Given the description of an element on the screen output the (x, y) to click on. 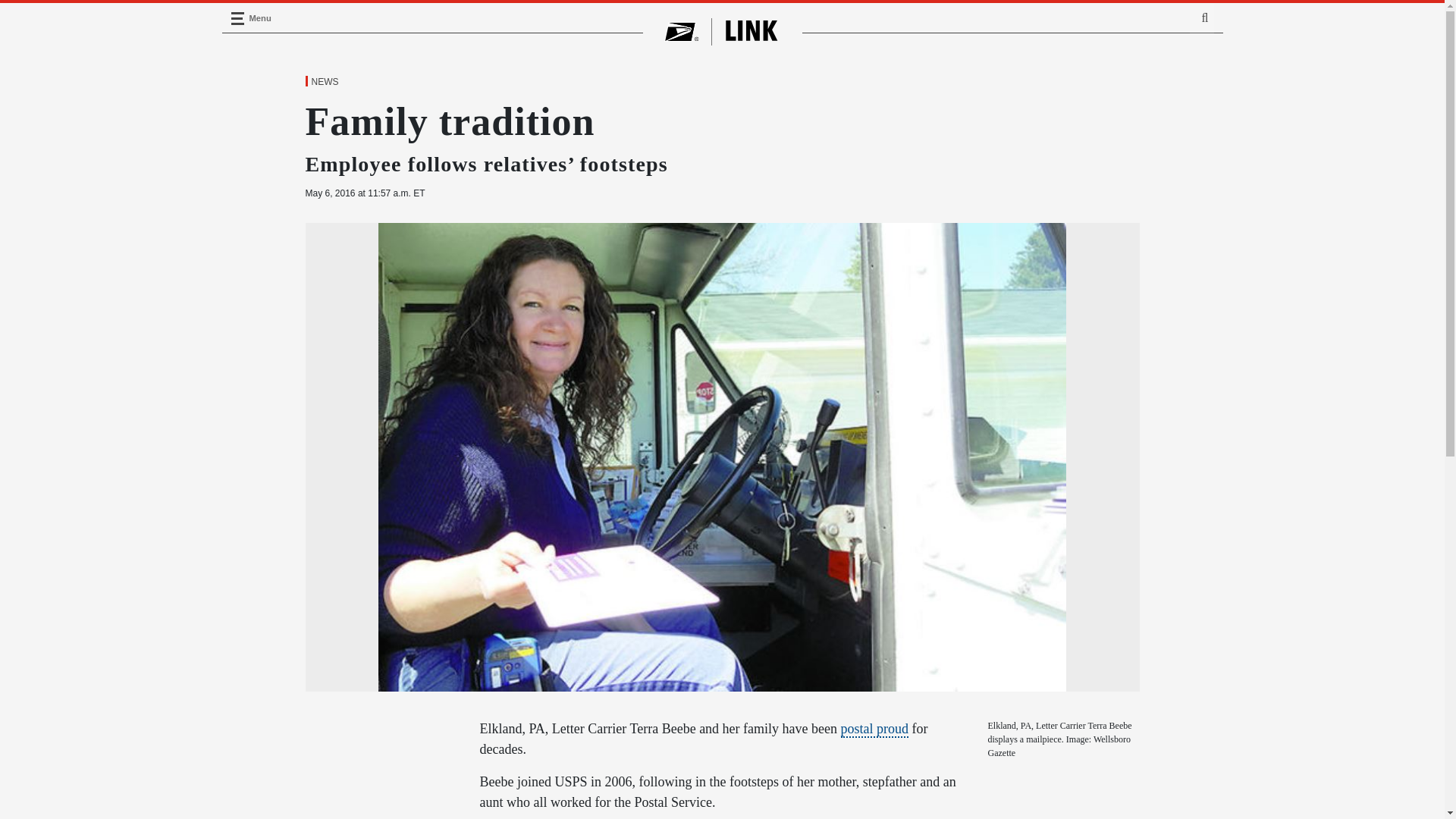
Menu (237, 18)
NEWS (323, 81)
postal proud (874, 729)
